Given the description of an element on the screen output the (x, y) to click on. 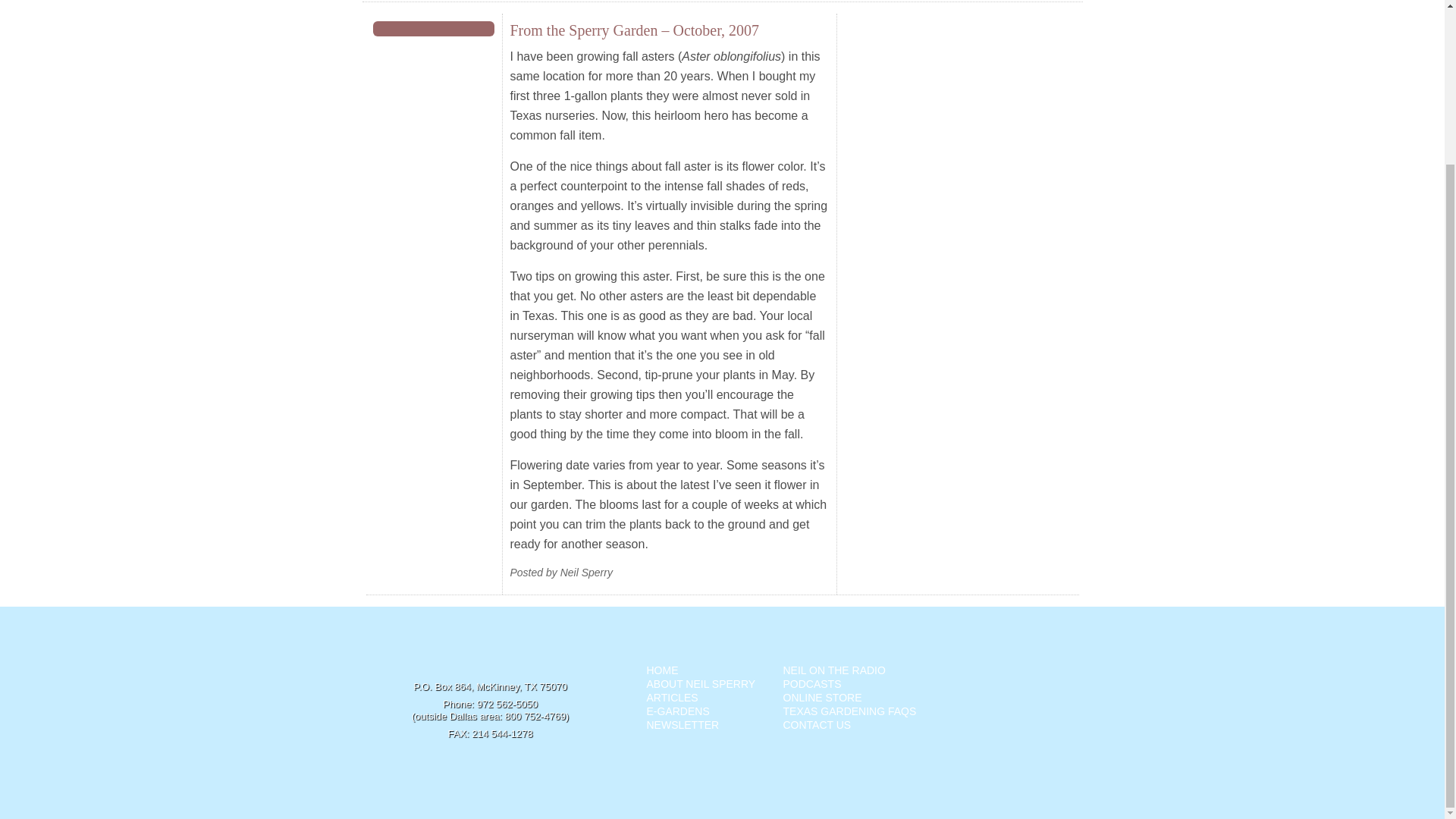
ABOUT NEIL SPERRY (700, 684)
NEIL ON THE RADIO (834, 670)
HOME (662, 670)
ARTICLES (671, 697)
TEXAS GARDENING FAQS (849, 711)
ONLINE STORE (822, 697)
CONTACT US (816, 725)
E-GARDENS NEWSLETTER (682, 718)
PODCASTS (812, 684)
